Given the description of an element on the screen output the (x, y) to click on. 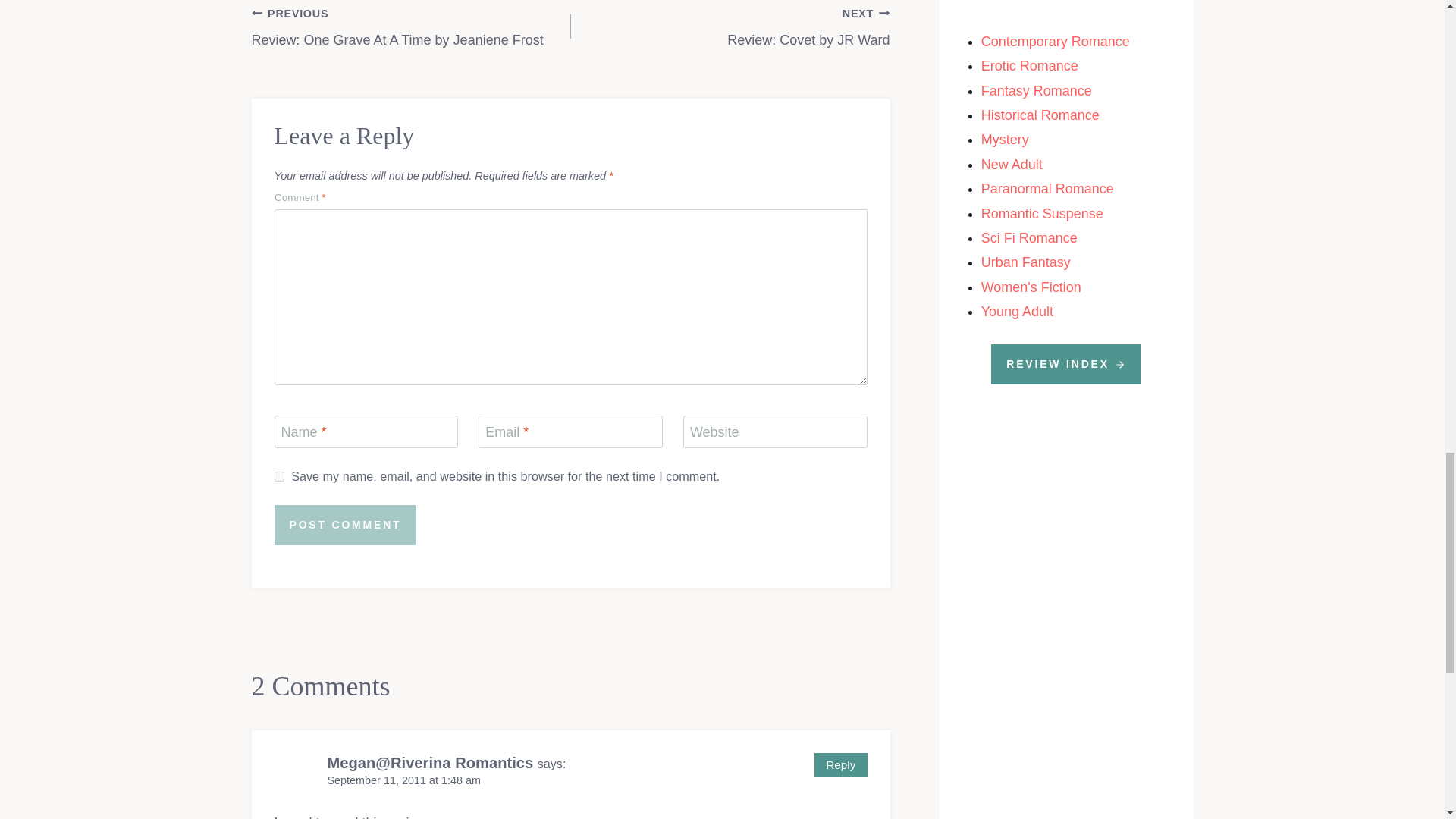
Post Comment (345, 525)
yes (279, 476)
Post Comment (410, 26)
